Given the description of an element on the screen output the (x, y) to click on. 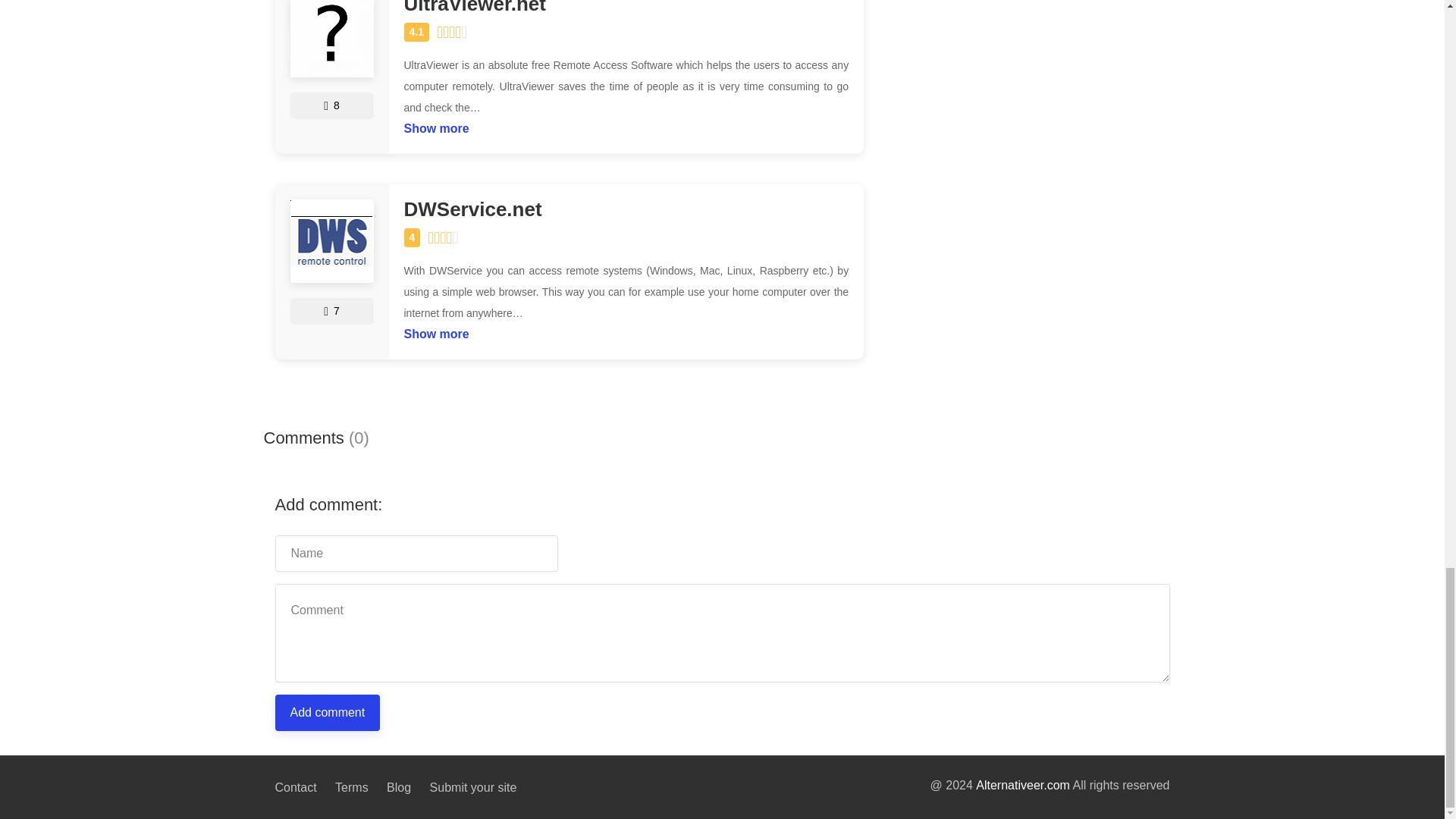
Show more (435, 330)
UltraViewer.net (625, 7)
Contact (295, 789)
Submit your site (472, 785)
Terms (351, 787)
Show more (435, 124)
Add comment (327, 712)
Add comment (327, 712)
DWService.net (625, 209)
Blog (398, 787)
